Given the description of an element on the screen output the (x, y) to click on. 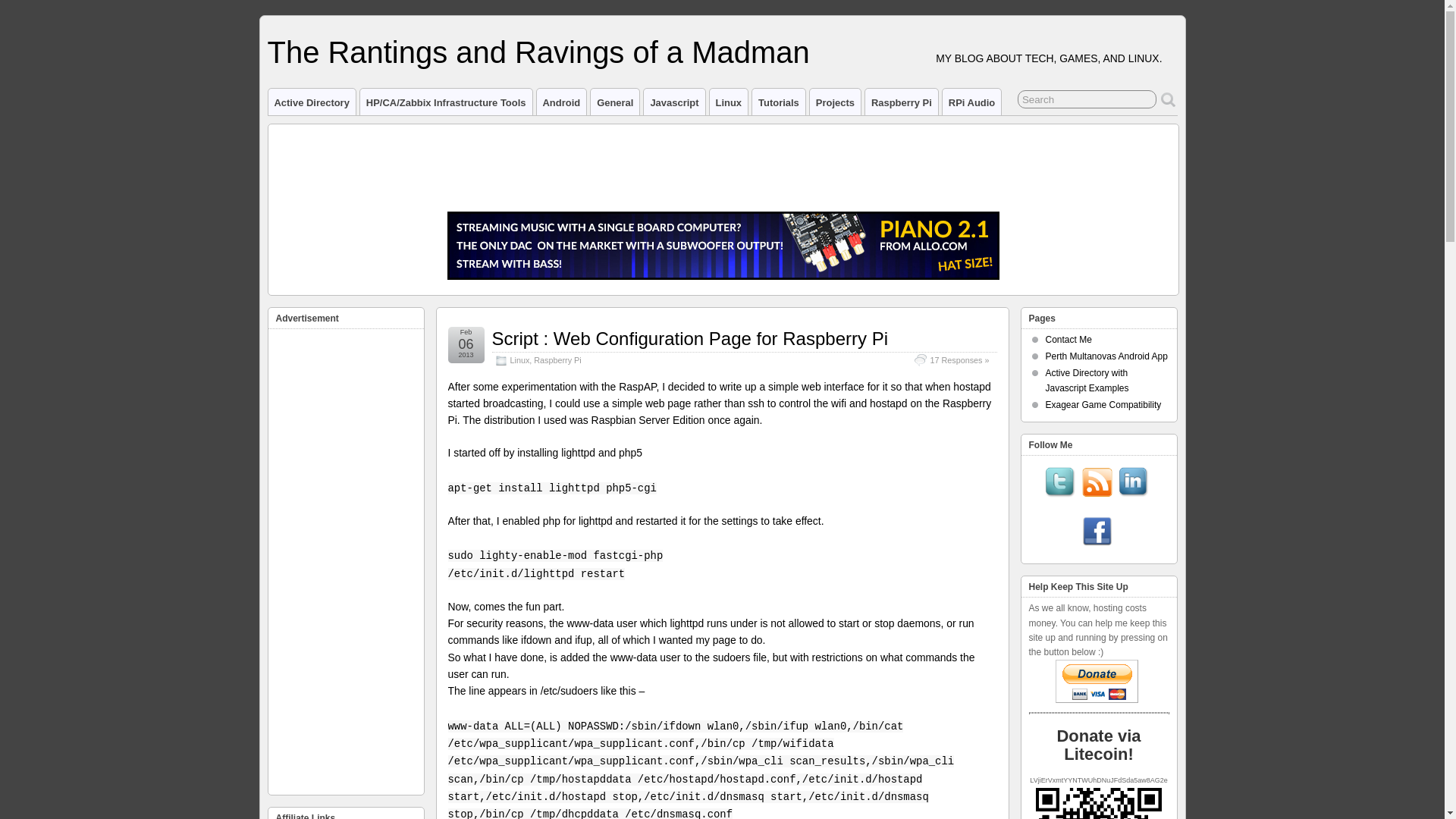
Search (1086, 99)
Android (561, 101)
Projects (834, 101)
Javascript (673, 101)
RSS (1096, 483)
Search (1086, 99)
Tutorials (778, 101)
Linux (519, 359)
General (615, 101)
Raspberry Pi (900, 101)
Script : Web Configuration Page for Raspberry Pi (689, 338)
Script : Web Configuration Page for Raspberry Pi (689, 338)
Twitter (1060, 483)
Active Directory (311, 101)
RPi Audio (971, 101)
